Given the description of an element on the screen output the (x, y) to click on. 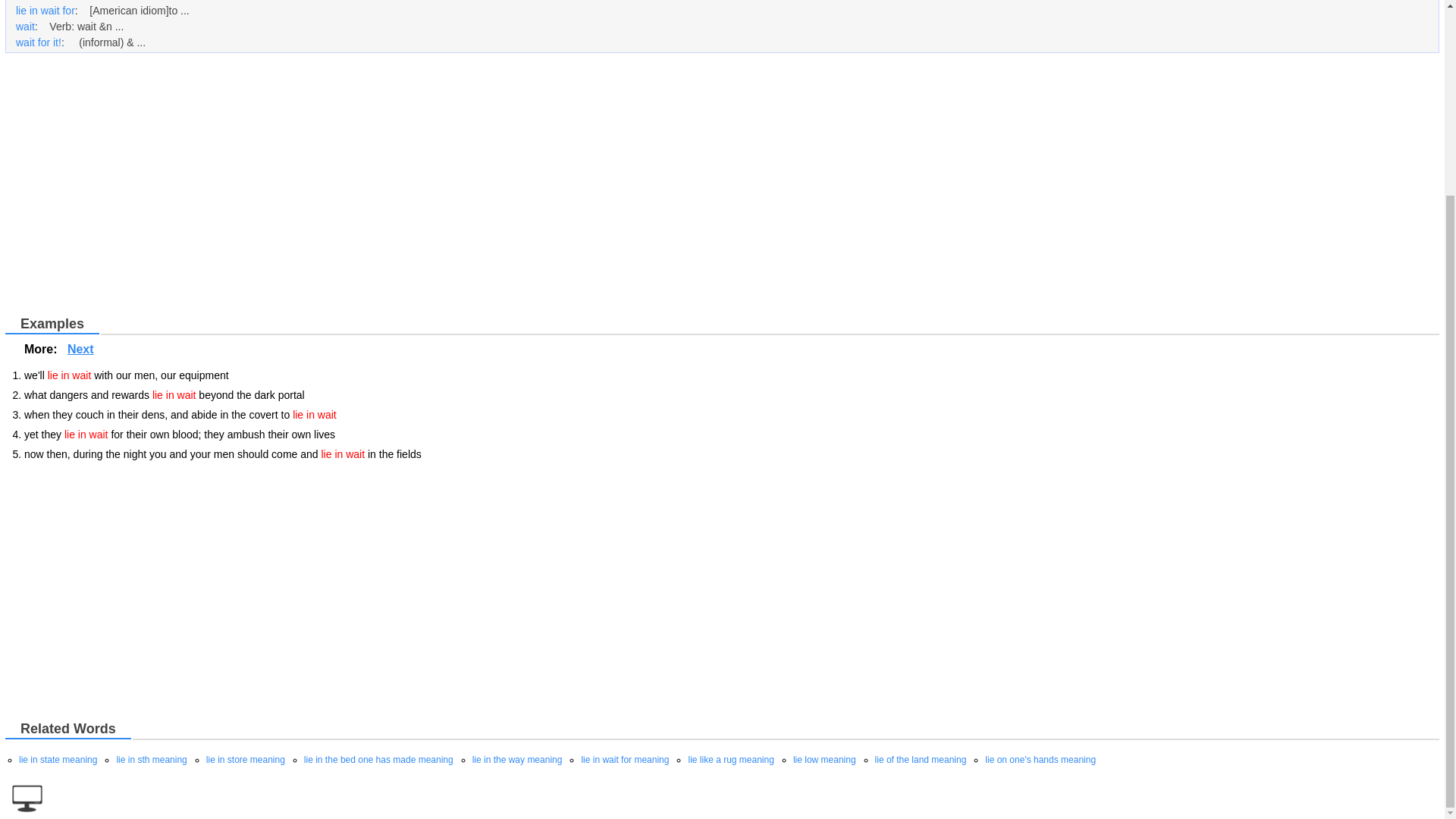
lie on one's hands meaning (1040, 759)
lie of the land meaning (920, 759)
wait for it! (38, 42)
lie like a rug meaning (730, 759)
wait in Chinese (25, 26)
lie in the bed one has made meaning (378, 759)
lie in wait for in Chinese (45, 10)
lie in sth meaning (151, 759)
lie in wait for (45, 10)
lie in the way meaning (516, 759)
wait (25, 26)
lie in state meaning (57, 759)
lie in store meaning (245, 759)
